Given the description of an element on the screen output the (x, y) to click on. 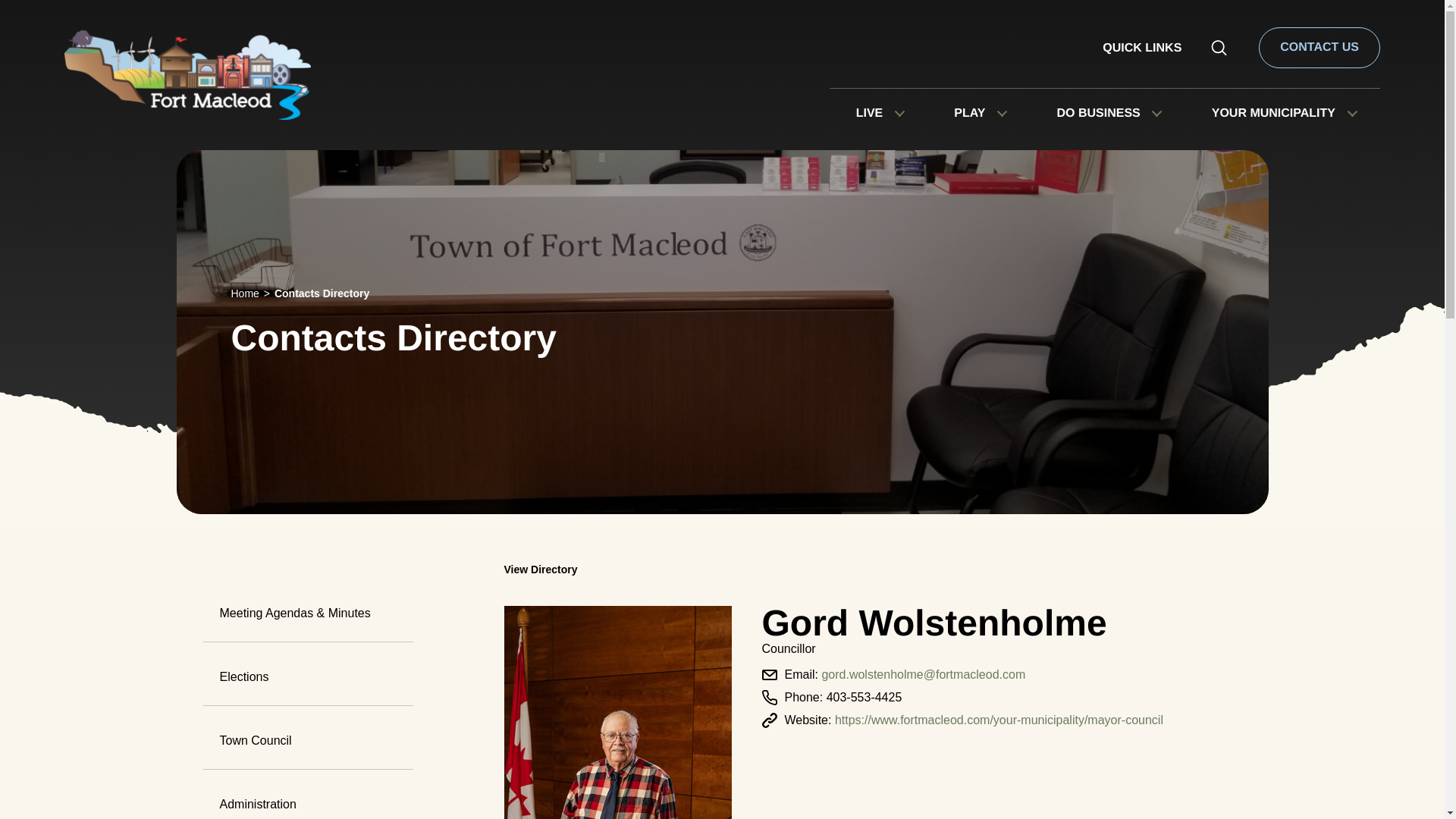
LIVE (869, 113)
CONTACT US (1319, 47)
PLAY (969, 113)
Search (1219, 47)
Fort Macleod (187, 89)
QUICK LINKS (1141, 48)
Go back to staff directory (579, 569)
Contact Us (1319, 47)
